Given the description of an element on the screen output the (x, y) to click on. 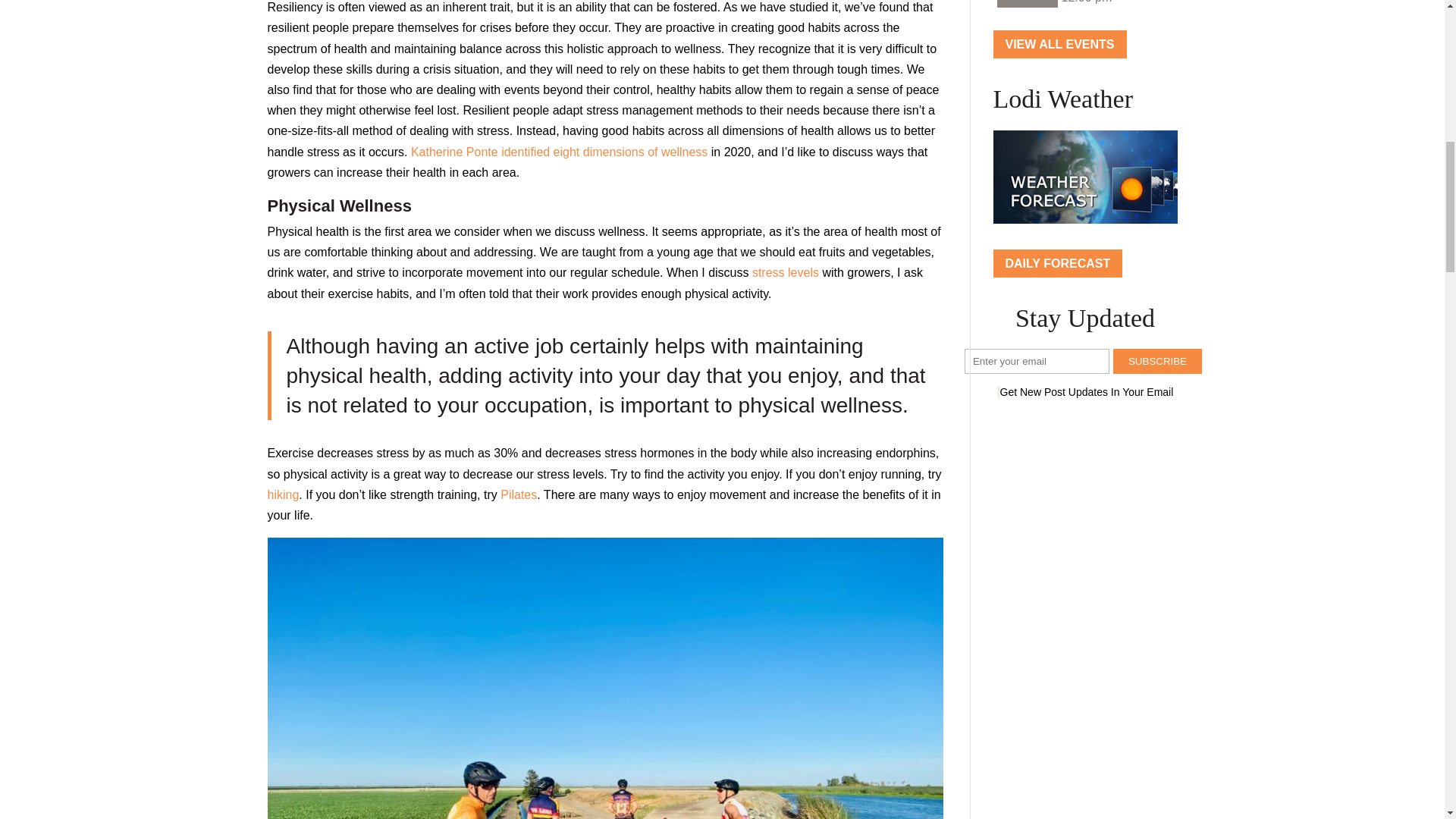
Subscribe (1157, 360)
Weather Forecast (1084, 177)
